Given the description of an element on the screen output the (x, y) to click on. 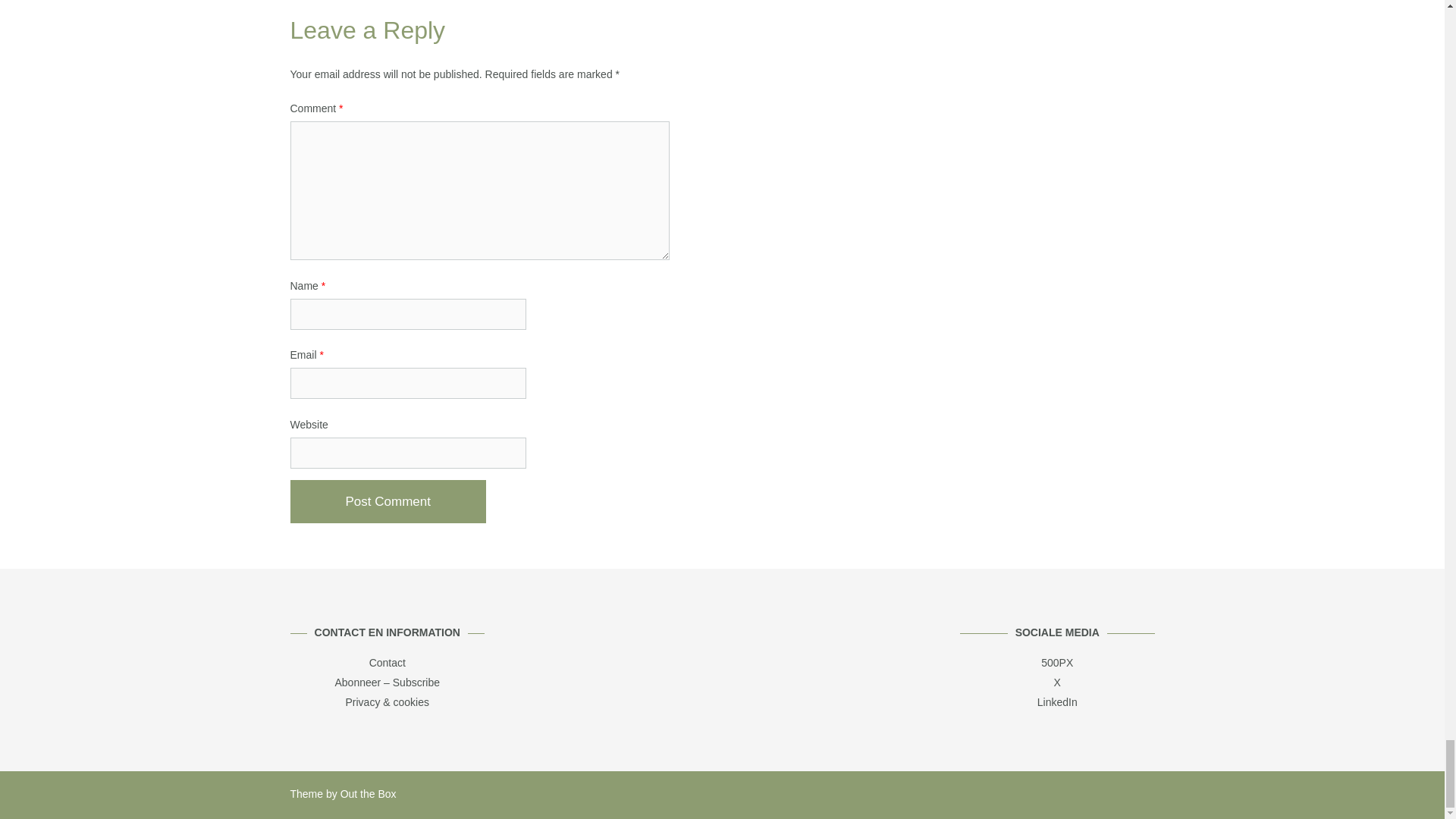
LinkedIn (1056, 702)
Out the Box (368, 793)
500PX (1057, 662)
Post Comment (386, 501)
Post Comment (386, 501)
Contact (387, 662)
